Given the description of an element on the screen output the (x, y) to click on. 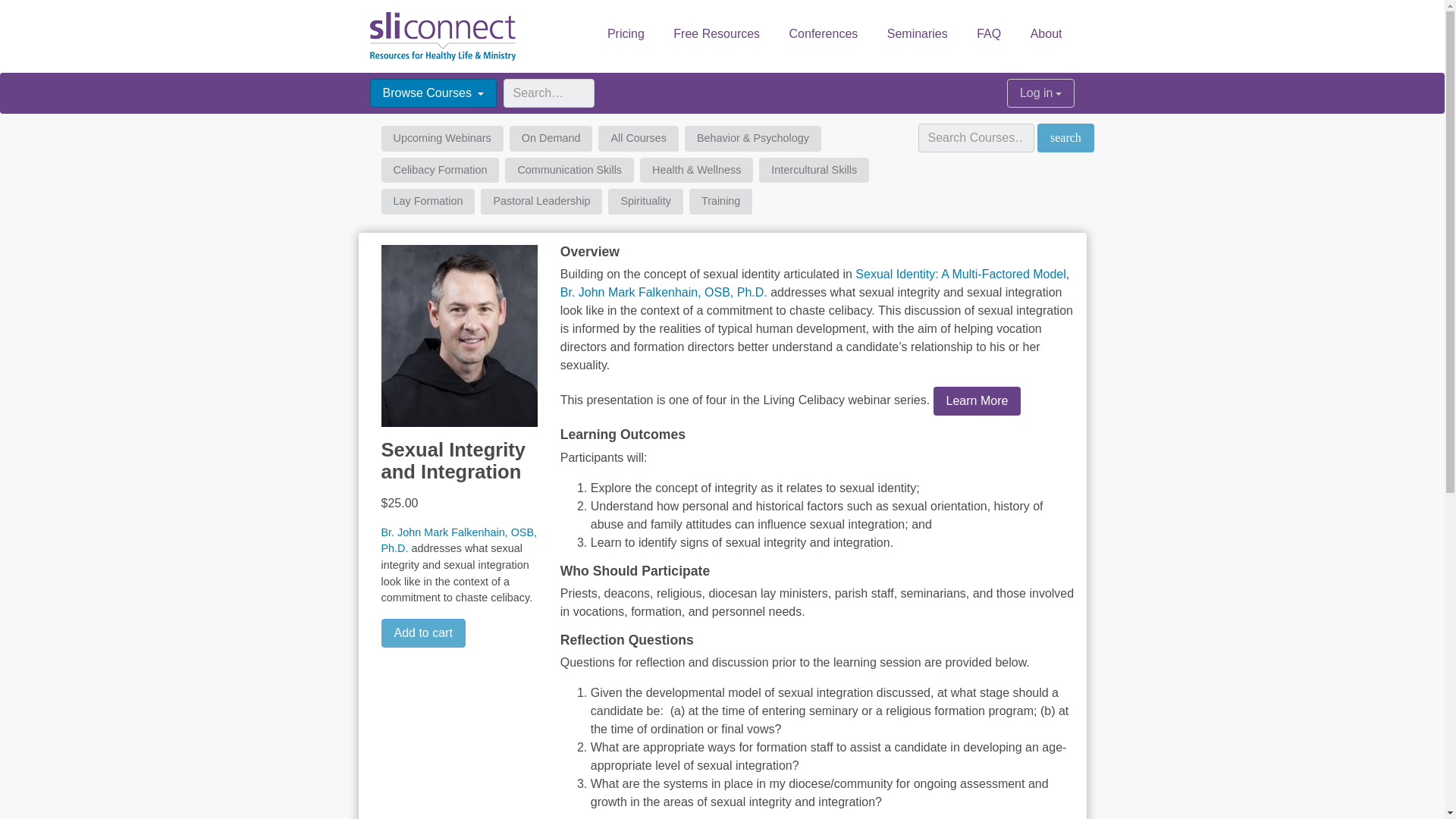
Browse Courses (433, 92)
On Demand (550, 138)
Seminaries (917, 33)
Free Resources (717, 33)
Search... (548, 92)
Upcoming Webinars (441, 138)
Conferences (823, 33)
Pricing (626, 33)
Browse Courses (433, 92)
About (1046, 33)
